Given the description of an element on the screen output the (x, y) to click on. 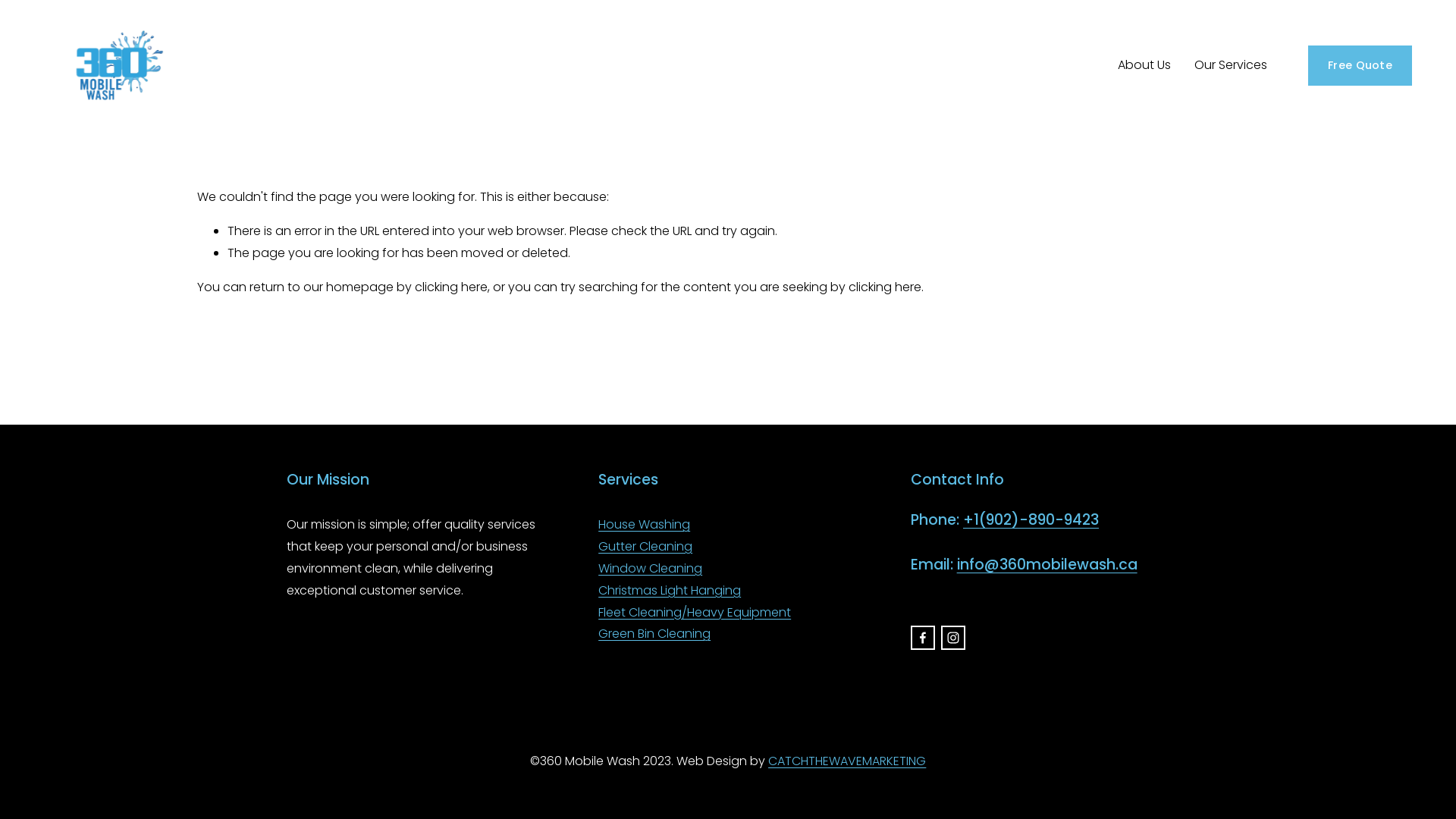
About Us Element type: text (1143, 65)
Window Cleaning Element type: text (650, 569)
info@360mobilewash.ca Element type: text (1047, 565)
CATCHTHEWAVEMARKETING Element type: text (846, 761)
clicking here Element type: text (884, 286)
Fleet Cleaning/Heavy Equipment Element type: text (694, 613)
clicking here Element type: text (450, 286)
Free Quote Element type: text (1360, 65)
Gutter Cleaning Element type: text (645, 547)
Christmas Light Hanging Element type: text (669, 591)
Our Services Element type: text (1230, 65)
+1(902)-890-9423 Element type: text (1030, 520)
Green Bin Cleaning Element type: text (654, 634)
House Washing Element type: text (644, 525)
